Given the description of an element on the screen output the (x, y) to click on. 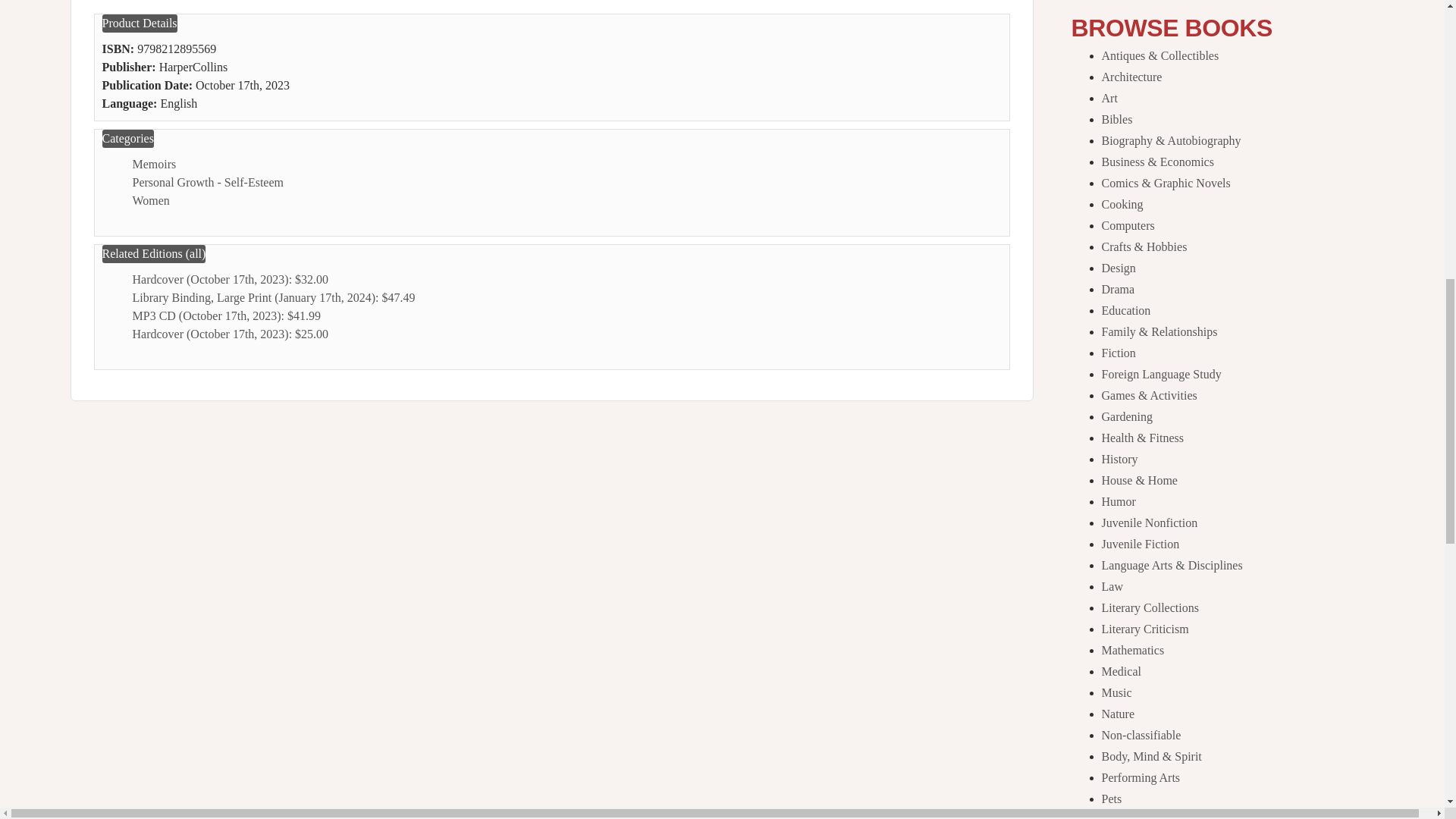
Memoirs (154, 164)
Bibles (1116, 119)
Architecture (1130, 76)
Women (150, 200)
Personal Growth - Self-Esteem (207, 182)
Art (1108, 97)
